Given the description of an element on the screen output the (x, y) to click on. 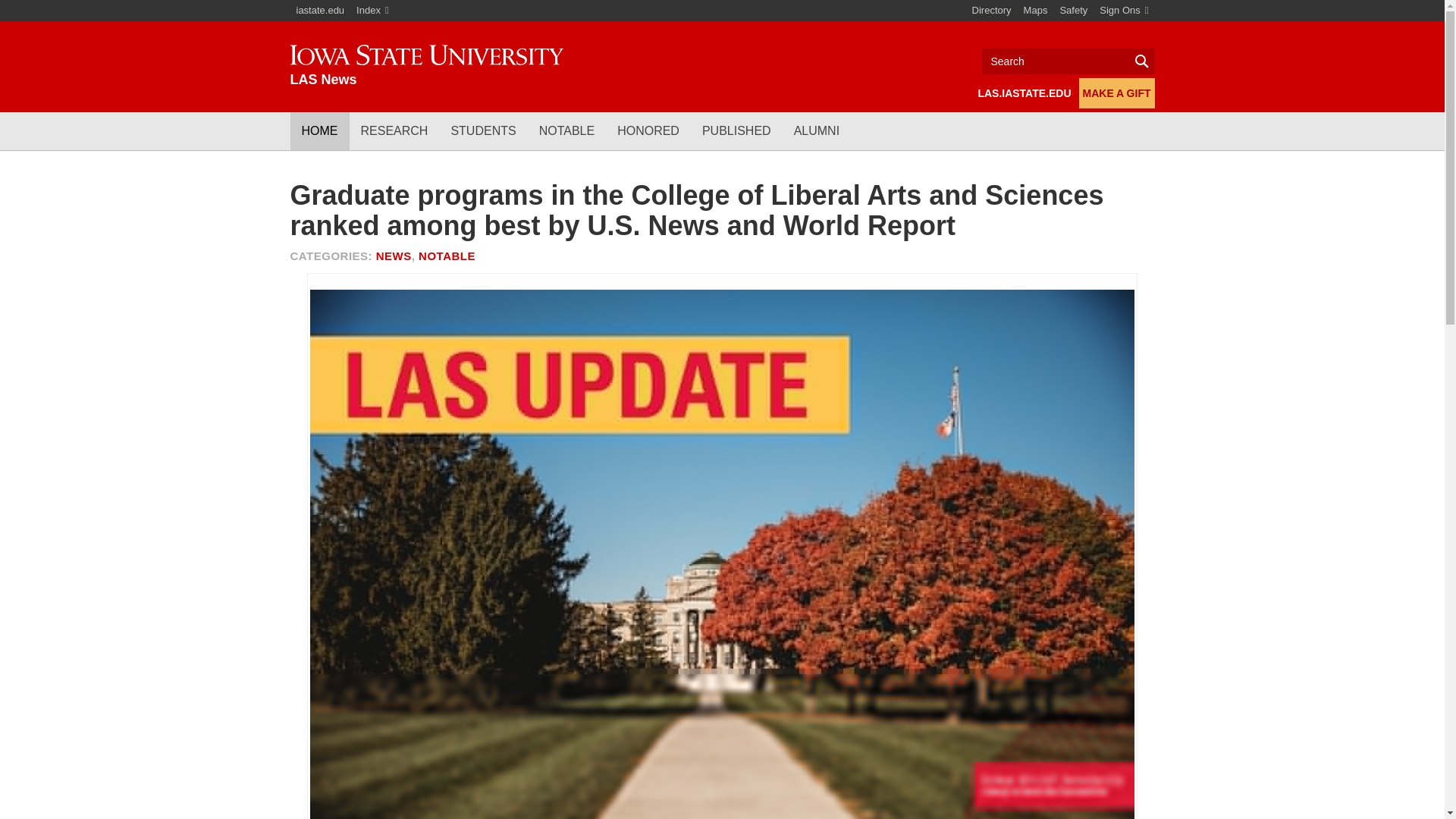
Home (425, 66)
Directory (991, 10)
Safety (1072, 10)
iastate.edu (319, 10)
Search (1067, 61)
Sign Ons (1123, 10)
Maps (1035, 10)
Index (372, 10)
